Given the description of an element on the screen output the (x, y) to click on. 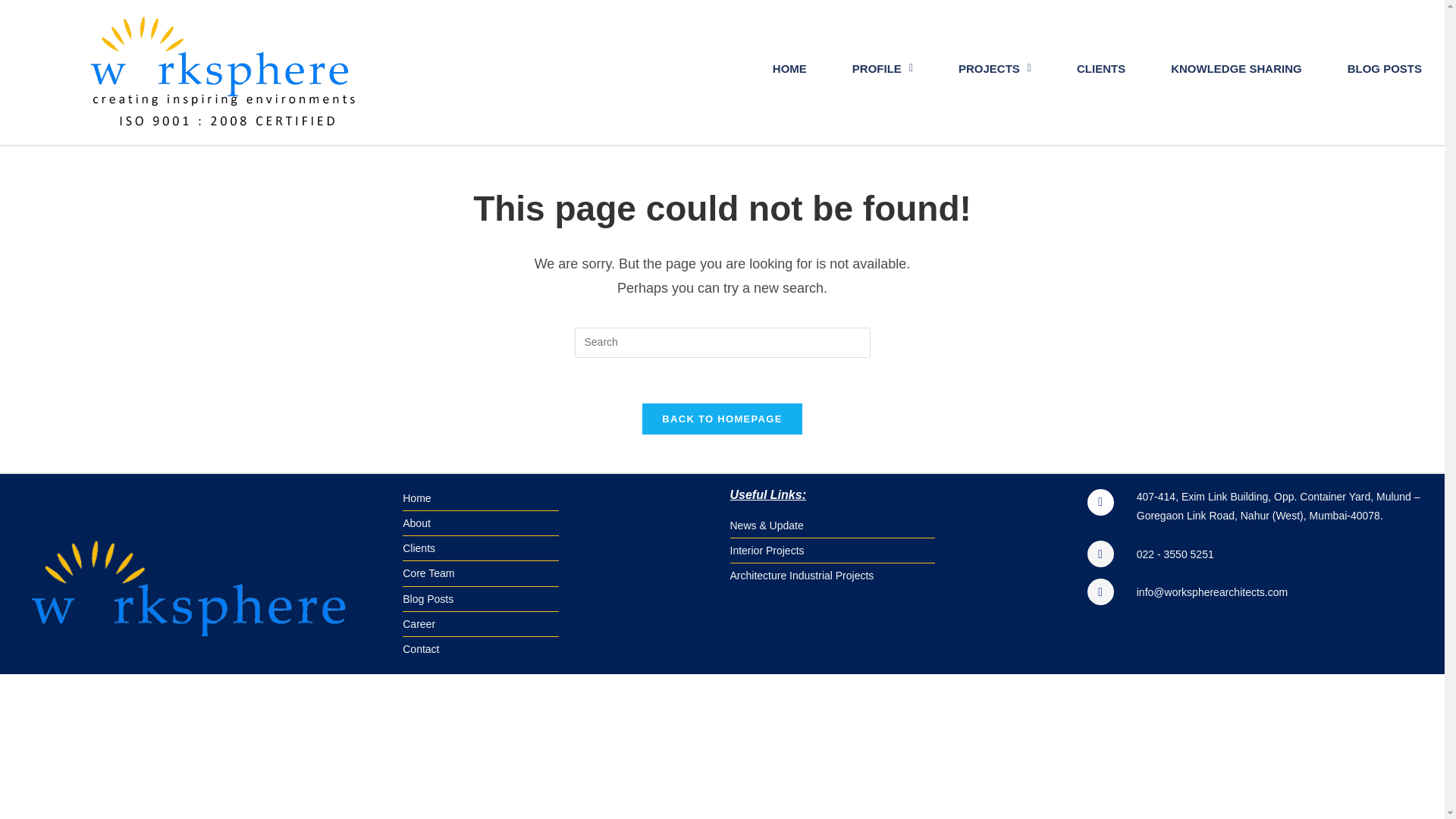
BLOG POSTS (1384, 68)
PROJECTS (994, 68)
CLIENTS (1100, 68)
Career (558, 624)
Home (558, 497)
Core Team (558, 573)
BACK TO HOMEPAGE (722, 418)
About (558, 523)
Clients (558, 547)
PROFILE (882, 68)
